Given the description of an element on the screen output the (x, y) to click on. 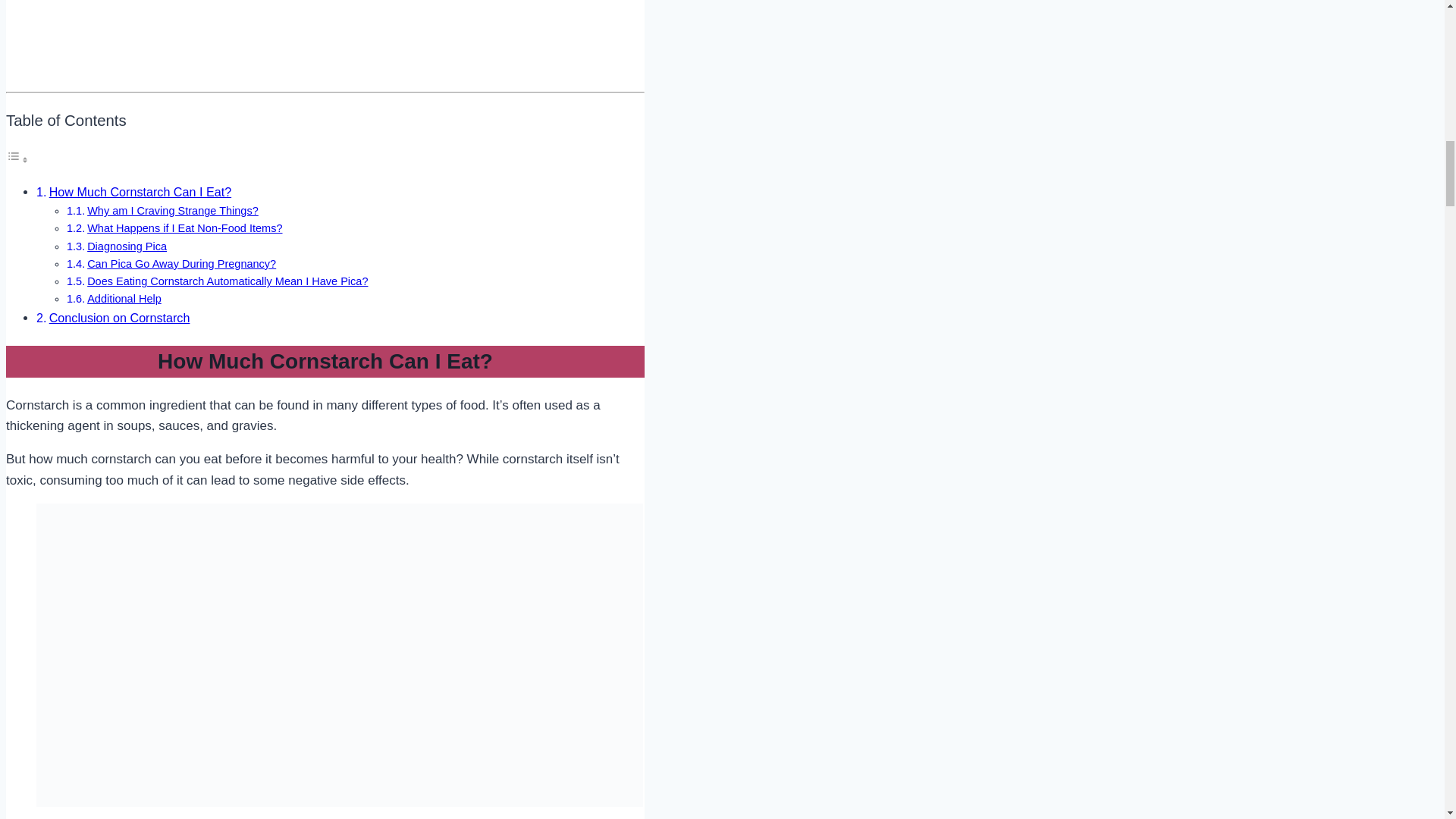
What Happens if I Eat Non-Food Items? (184, 227)
Additional Help (124, 298)
Conclusion on Cornstarch (119, 317)
How Much Cornstarch Can I Eat? (140, 192)
Diagnosing Pica (127, 246)
Additional Help (124, 298)
What Happens if I Eat Non-Food Items? (184, 227)
Diagnosing Pica (127, 246)
Can Pica Go Away During Pregnancy? (181, 263)
Does Eating Cornstarch Automatically Mean I Have Pica? (227, 281)
